Given the description of an element on the screen output the (x, y) to click on. 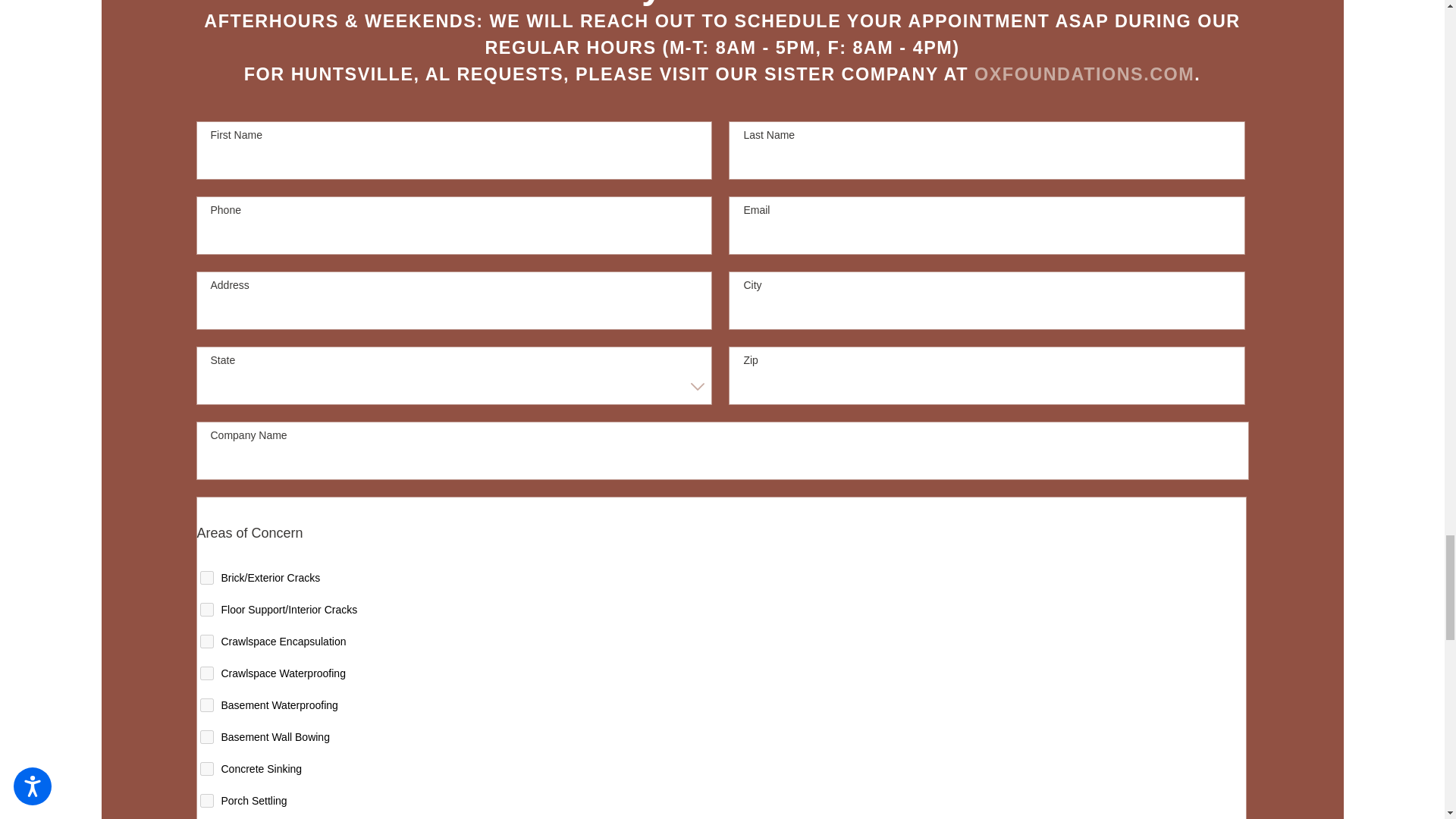
Crawlspace Encapsulation (207, 641)
Basement Wall Bowing (207, 736)
Crawlspace Waterproofing (207, 673)
Basement Waterproofing (207, 704)
Concrete Sinking (207, 768)
Porch Settling (207, 800)
